Given the description of an element on the screen output the (x, y) to click on. 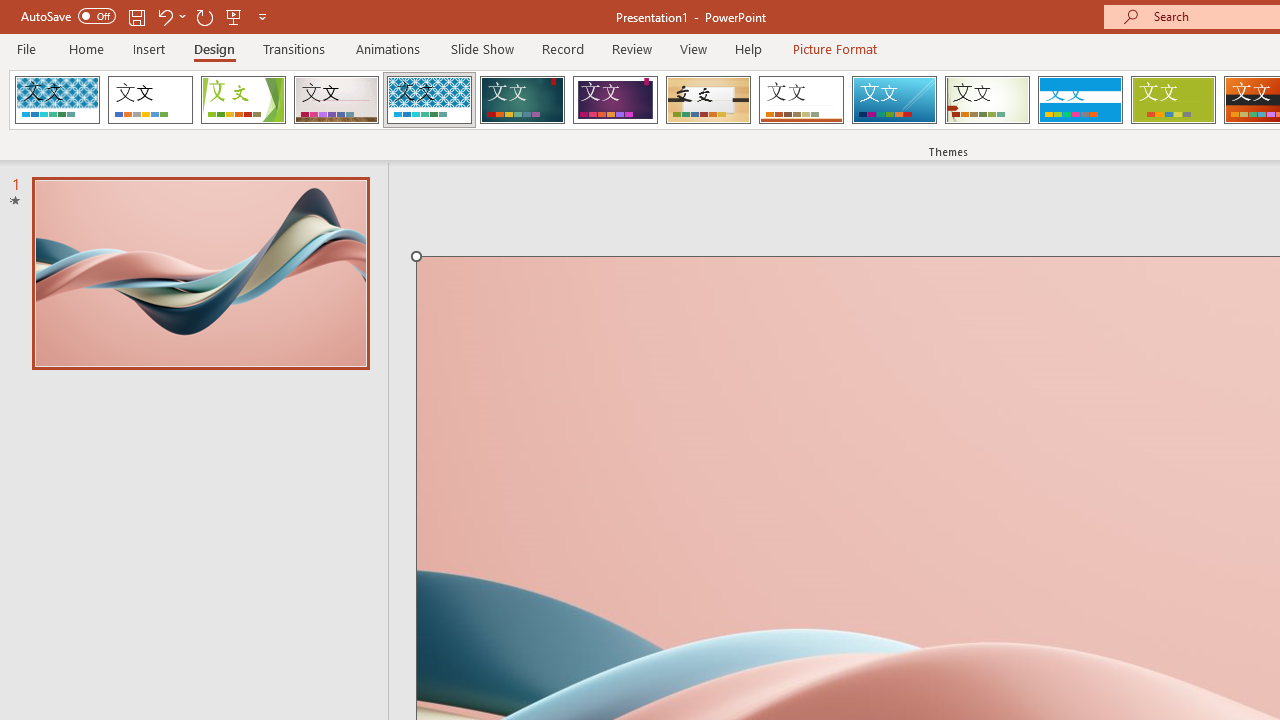
Slice (893, 100)
Retrospect (801, 100)
Banded (1080, 100)
Office Theme (150, 100)
Ion Boardroom (615, 100)
Ion (522, 100)
AfterglowVTI (57, 100)
